Given the description of an element on the screen output the (x, y) to click on. 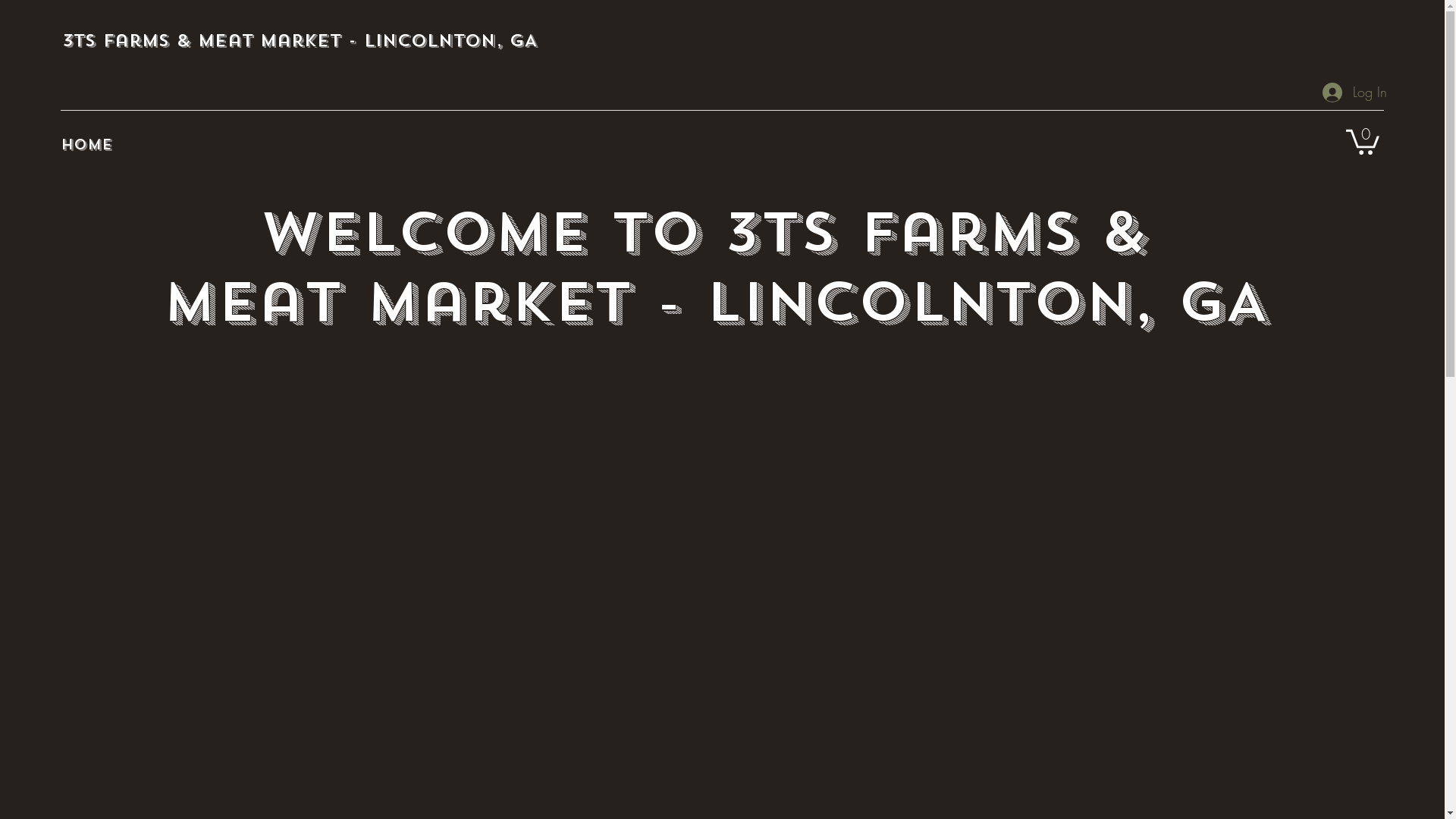
3Ts Farms & Meat Market - Lincolnton, GA Element type: text (299, 40)
0 Element type: text (1362, 140)
Home Element type: text (86, 144)
Log In Element type: text (1354, 92)
Click Here To Contact Us Via Cell - Ask For Tea Element type: text (720, 421)
